Given the description of an element on the screen output the (x, y) to click on. 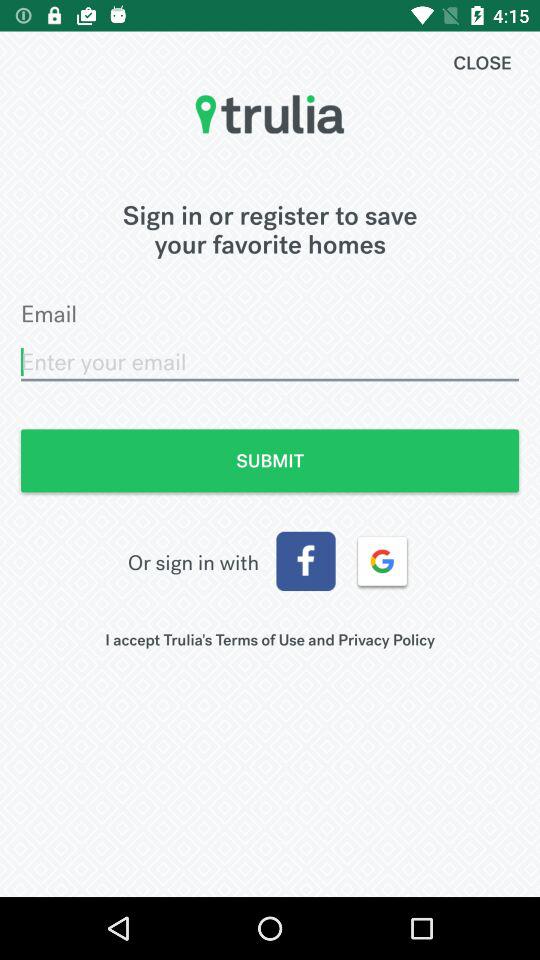
enter your email address (269, 362)
